Given the description of an element on the screen output the (x, y) to click on. 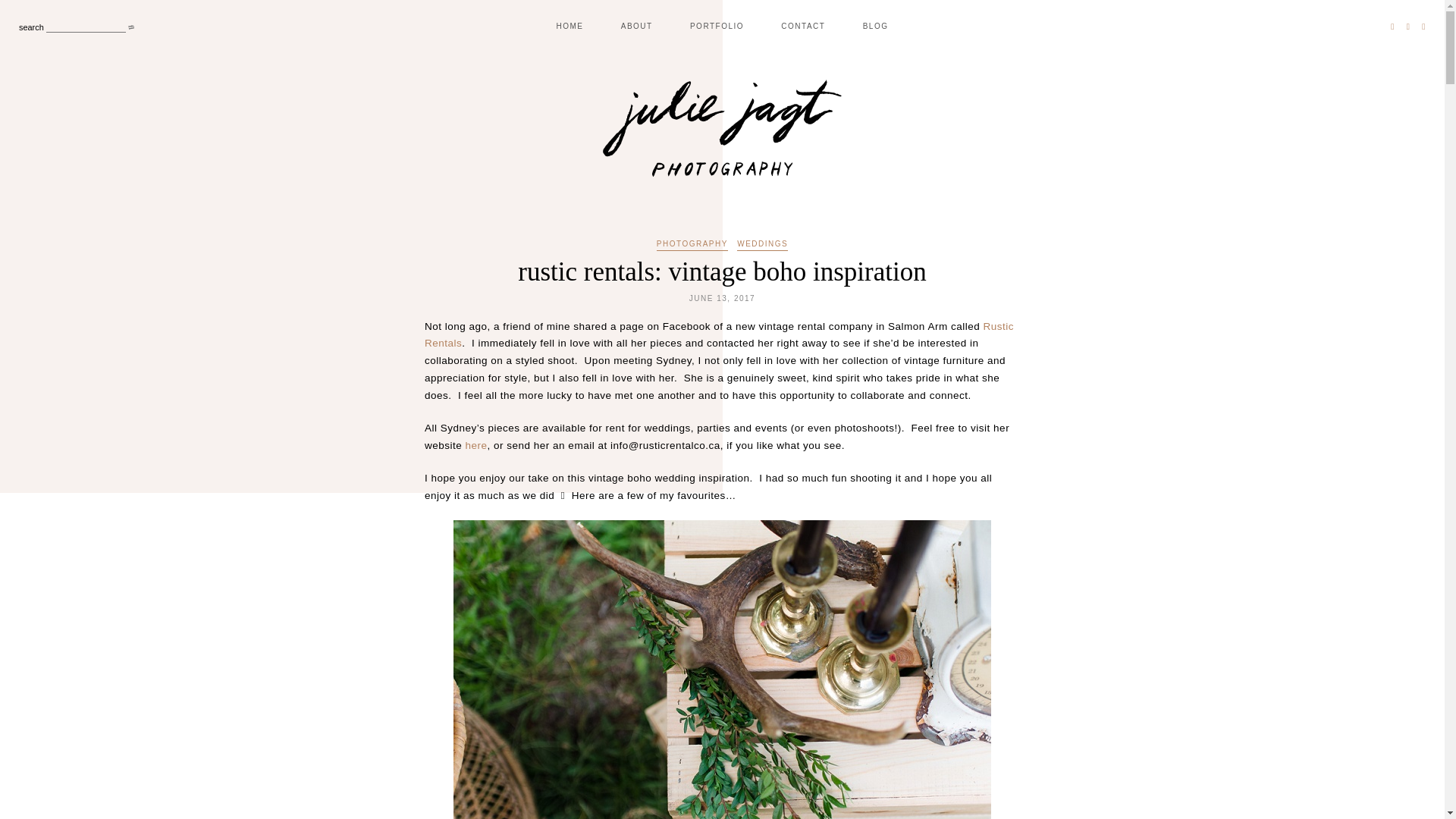
WEDDINGS (761, 245)
PHOTOGRAPHY (692, 245)
CONTACT (802, 26)
Rustic Rentals (719, 334)
JUNE 13, 2017 (721, 298)
here (476, 445)
PORTFOLIO (717, 26)
